Given the description of an element on the screen output the (x, y) to click on. 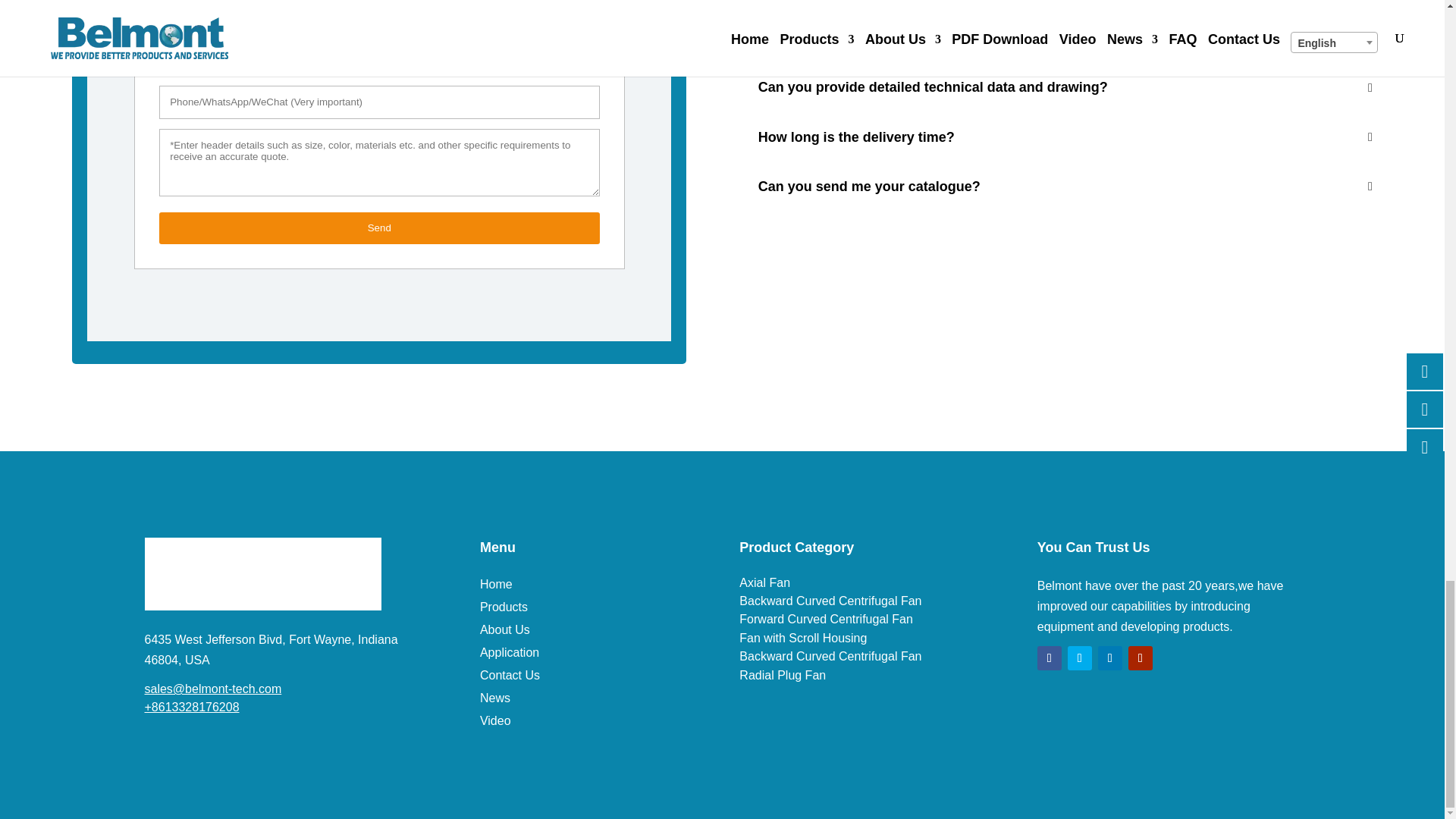
LOGO-B (262, 573)
Follow on LinkedIn (1109, 658)
Follow on Twitter (1079, 658)
Follow on Youtube (1140, 658)
Follow on Facebook (1048, 658)
